Given the description of an element on the screen output the (x, y) to click on. 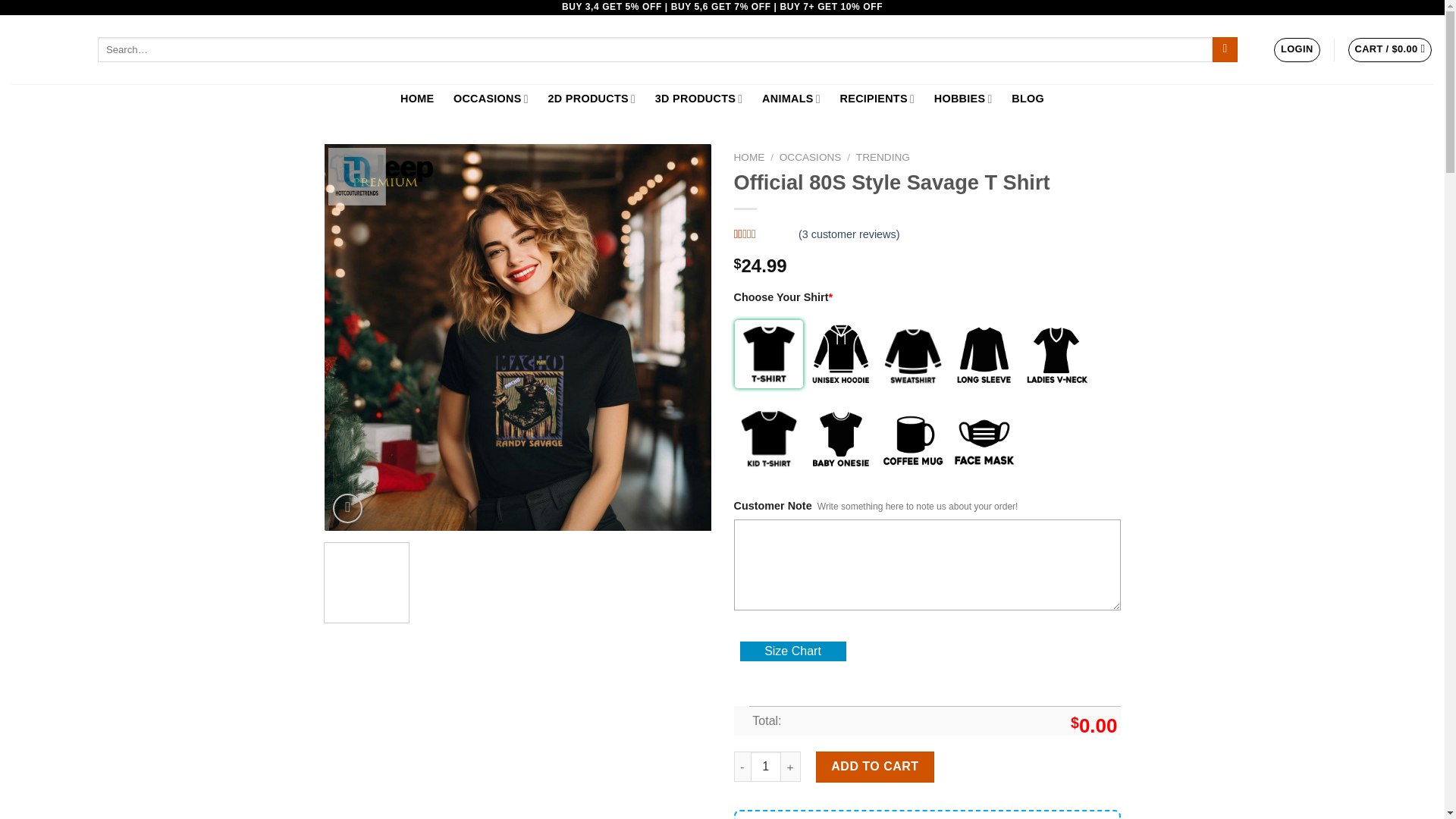
Official 80S Style Savage T Shirt 1 (467, 584)
Cart (1390, 49)
1 (765, 766)
Hotcouturetrends (43, 48)
3D PRODUCTS (698, 98)
HOME (417, 98)
Zoom (347, 508)
RECIPIENTS (876, 98)
OCCASIONS (491, 98)
Search (1224, 49)
ANIMALS (790, 98)
LOGIN (1296, 49)
2D PRODUCTS (591, 98)
